Given the description of an element on the screen output the (x, y) to click on. 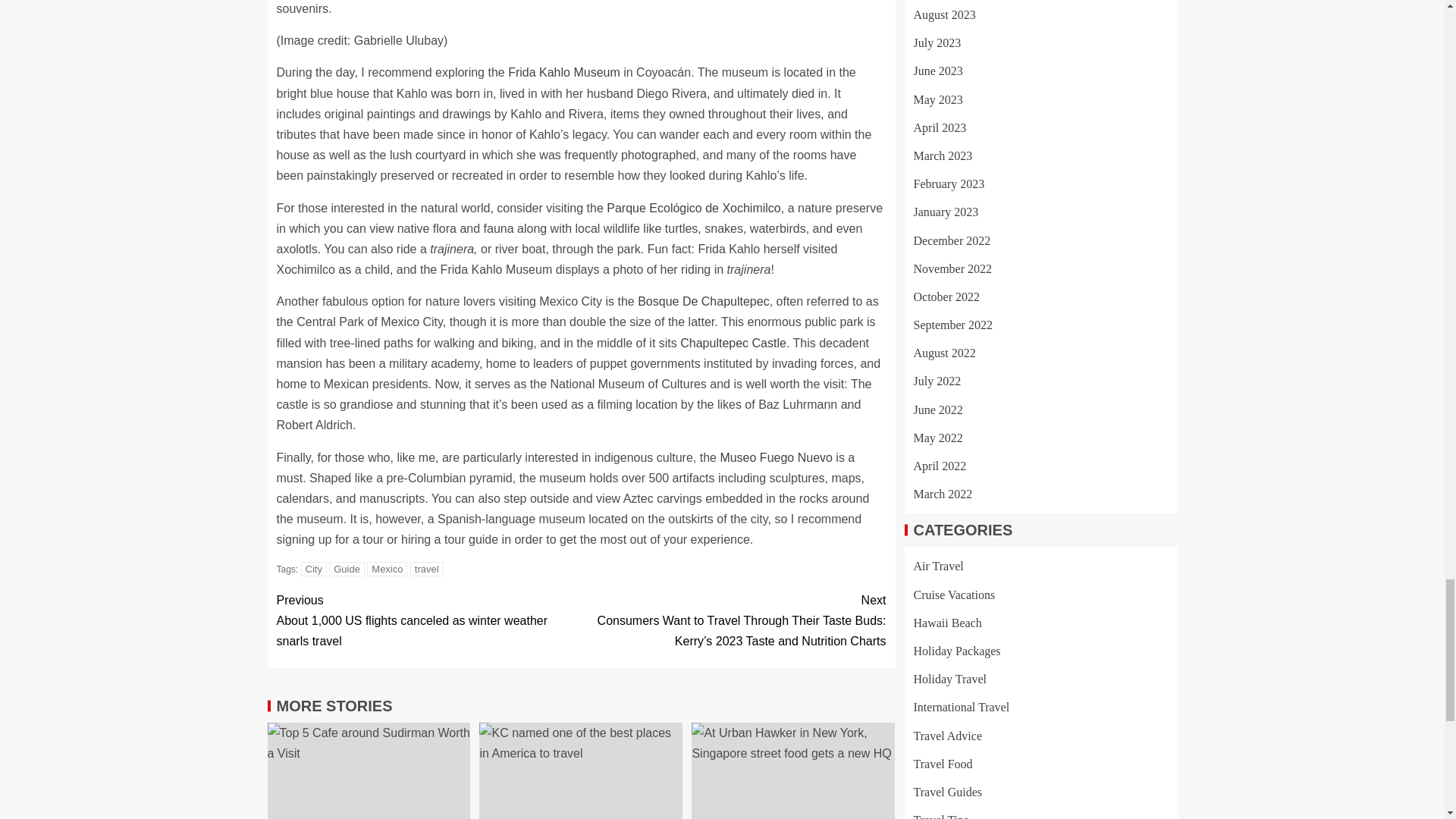
KC named one of the best places in America to travel (580, 770)
Frida Kahlo Museum (564, 72)
Top 5 Cafe around Sudirman Worth a Visit (368, 770)
